Given the description of an element on the screen output the (x, y) to click on. 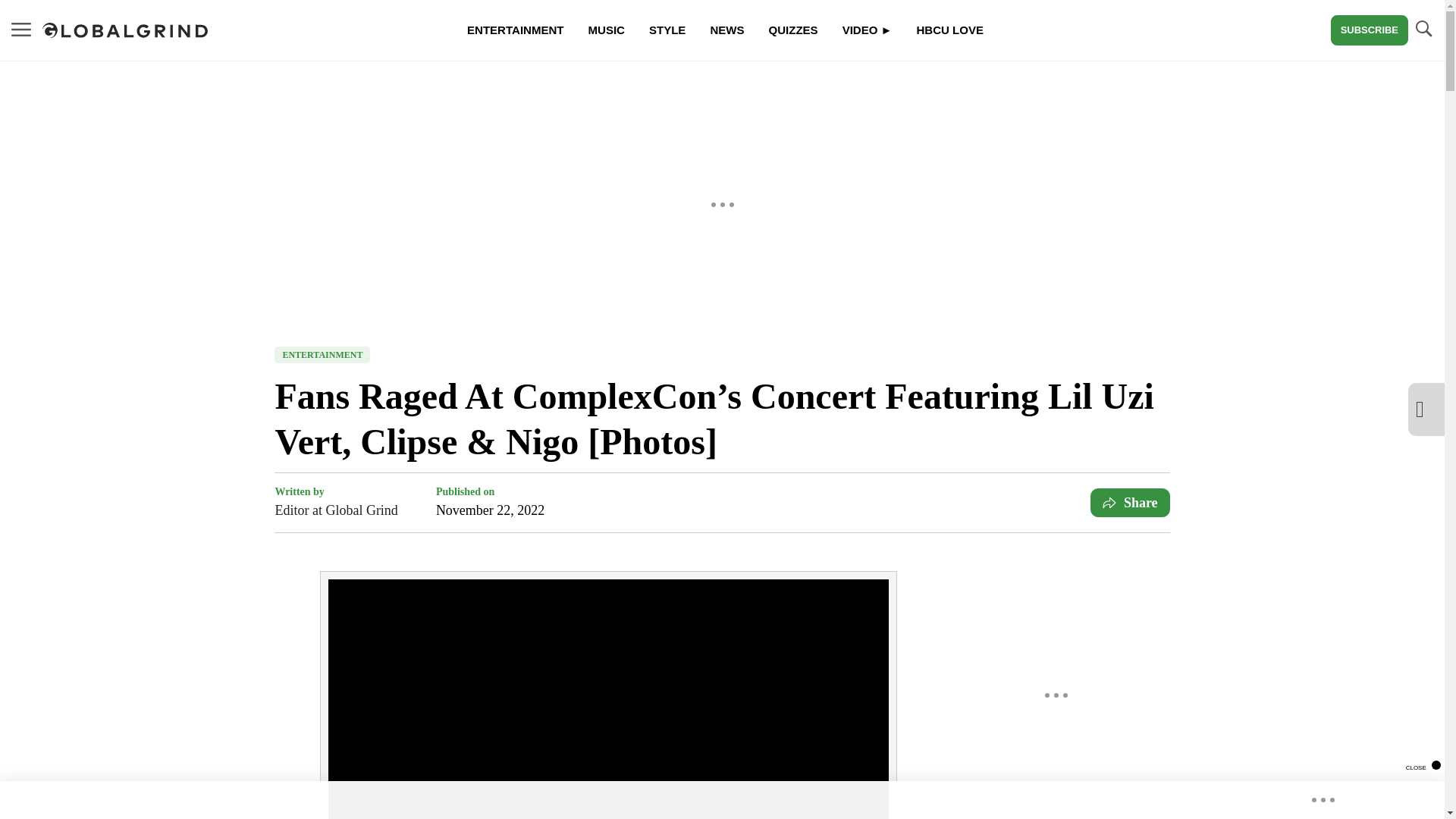
TOGGLE SEARCH (1422, 30)
NEWS (726, 30)
STYLE (667, 30)
HBCU LOVE (949, 30)
SUBSCRIBE (1368, 30)
Share (1130, 502)
ENTERTAINMENT (514, 30)
MUSIC (606, 30)
ENTERTAINMENT (322, 354)
MENU (20, 29)
MENU (20, 30)
QUIZZES (792, 30)
TOGGLE SEARCH (1422, 28)
Editor at Global Grind (336, 509)
